Given the description of an element on the screen output the (x, y) to click on. 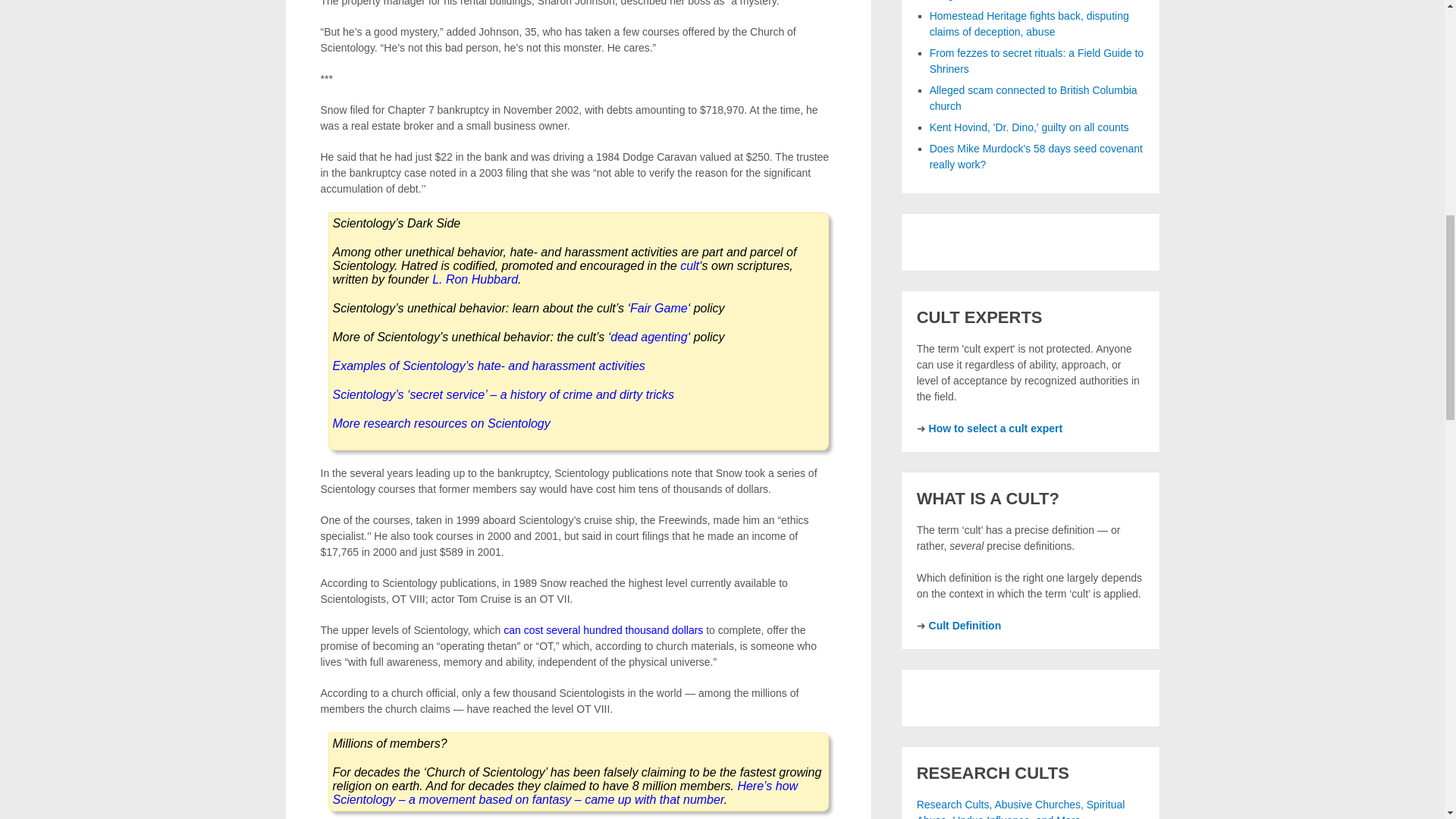
cult (688, 265)
From fezzes to secret rituals: a Field Guide to Shriners (1036, 60)
Kent Hovind, 'Dr. Dino,' guilty on all counts (1029, 127)
can cost (523, 630)
Does Mike Murdock's 58 days seed covenant really work? (1036, 156)
Alleged scam connected to British Columbia church (1033, 98)
dead agenting (648, 336)
L. Ron Hubbard (475, 278)
